Given the description of an element on the screen output the (x, y) to click on. 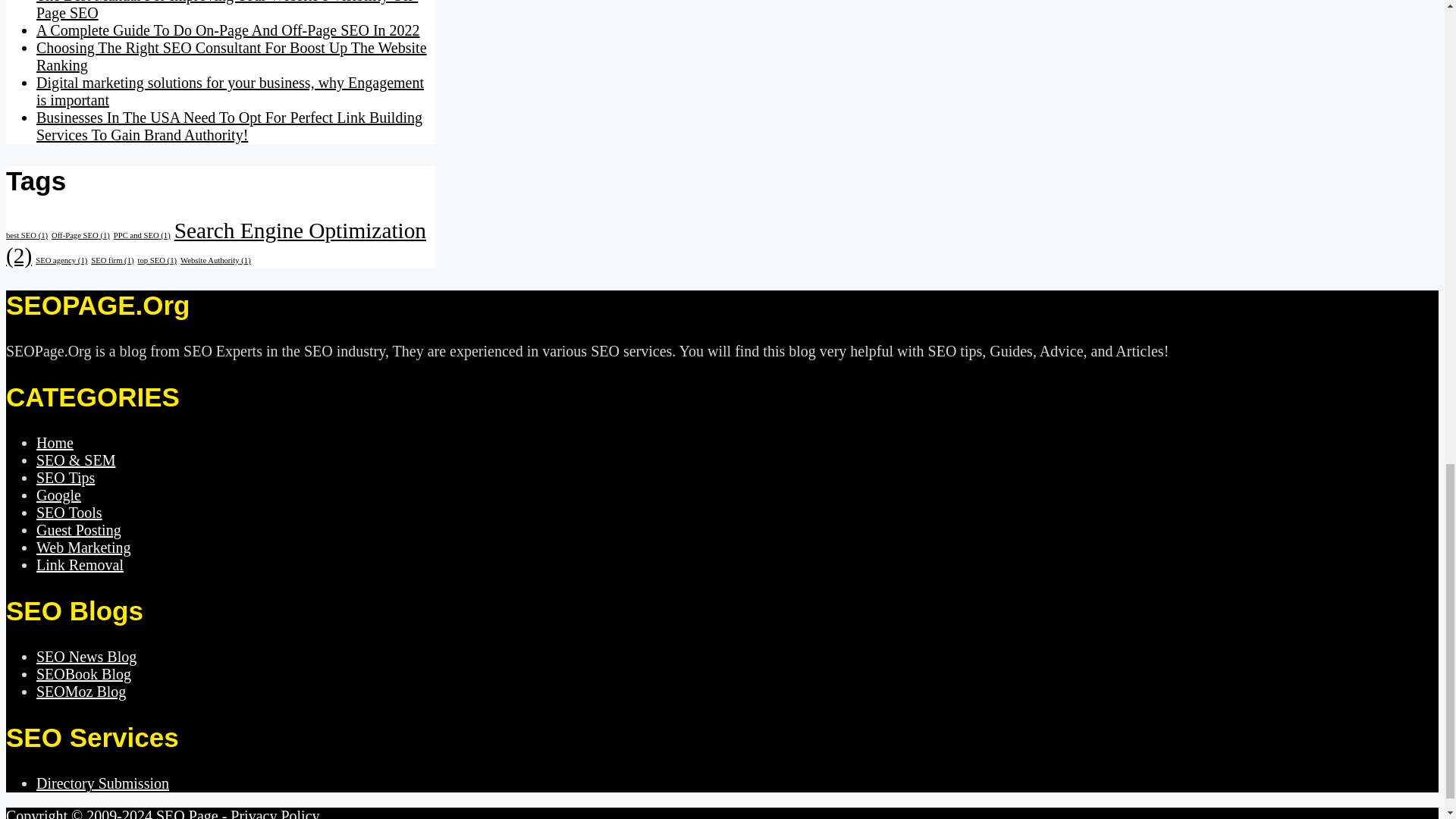
SEO Tools (68, 512)
Home (55, 442)
SEO Tips (65, 477)
Web Marketing (83, 547)
A Complete Guide To Do On-Page And Off-Page SEO In 2022 (228, 30)
Google (58, 494)
Guest Posting (78, 529)
